Given the description of an element on the screen output the (x, y) to click on. 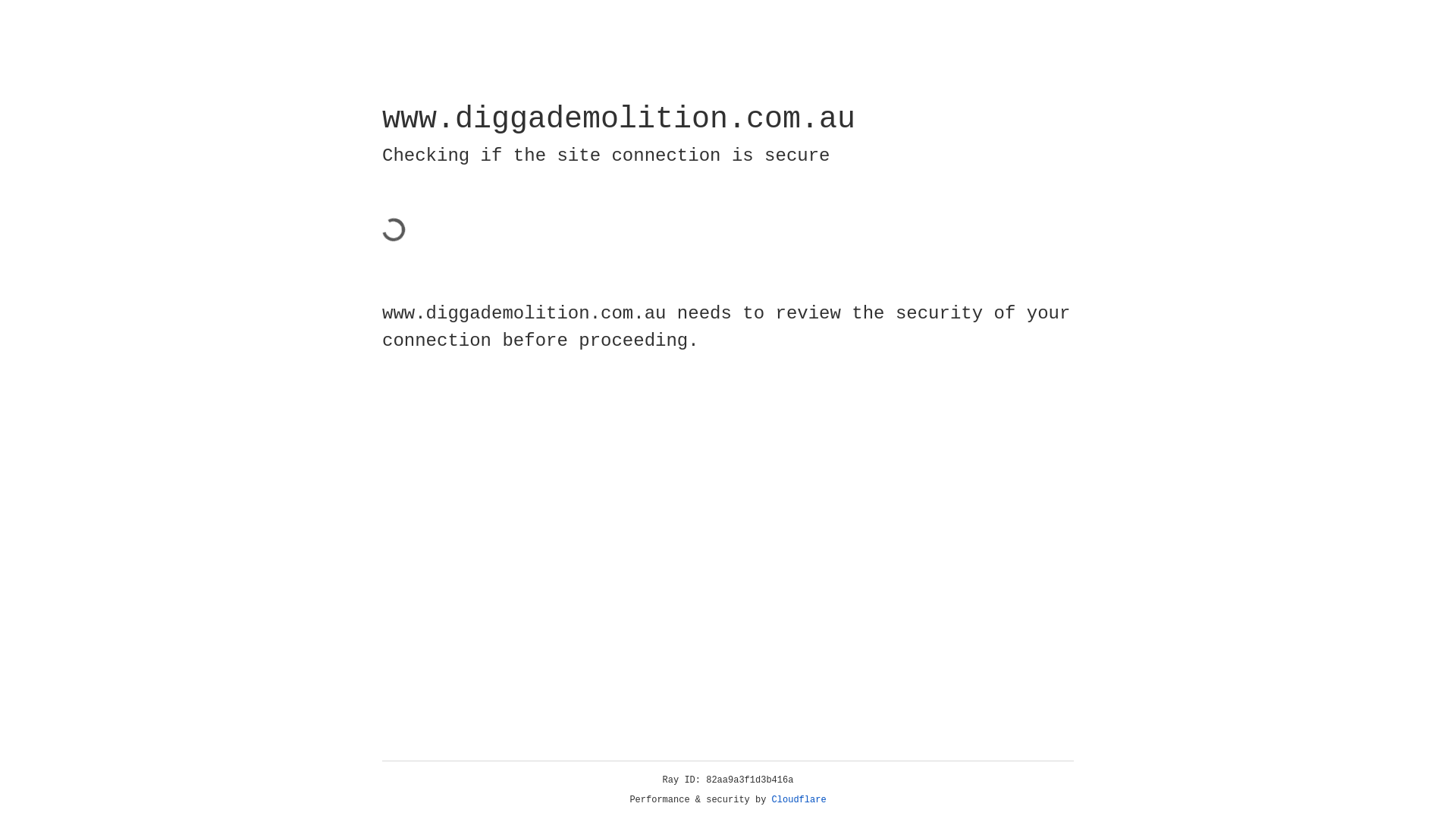
Cloudflare Element type: text (798, 799)
